Given the description of an element on the screen output the (x, y) to click on. 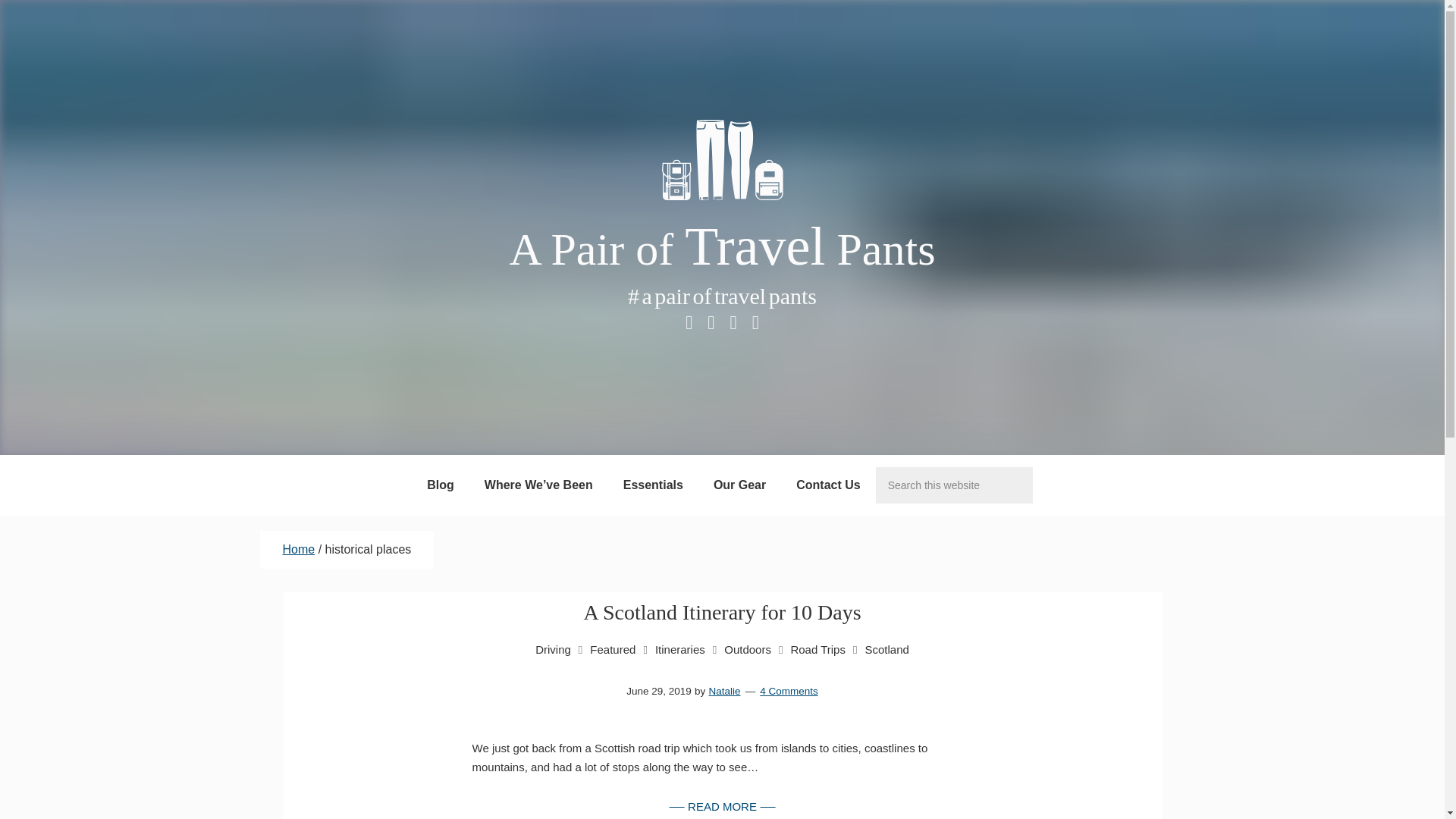
Blog (440, 485)
A Pair of Travel Pants (721, 249)
